Given the description of an element on the screen output the (x, y) to click on. 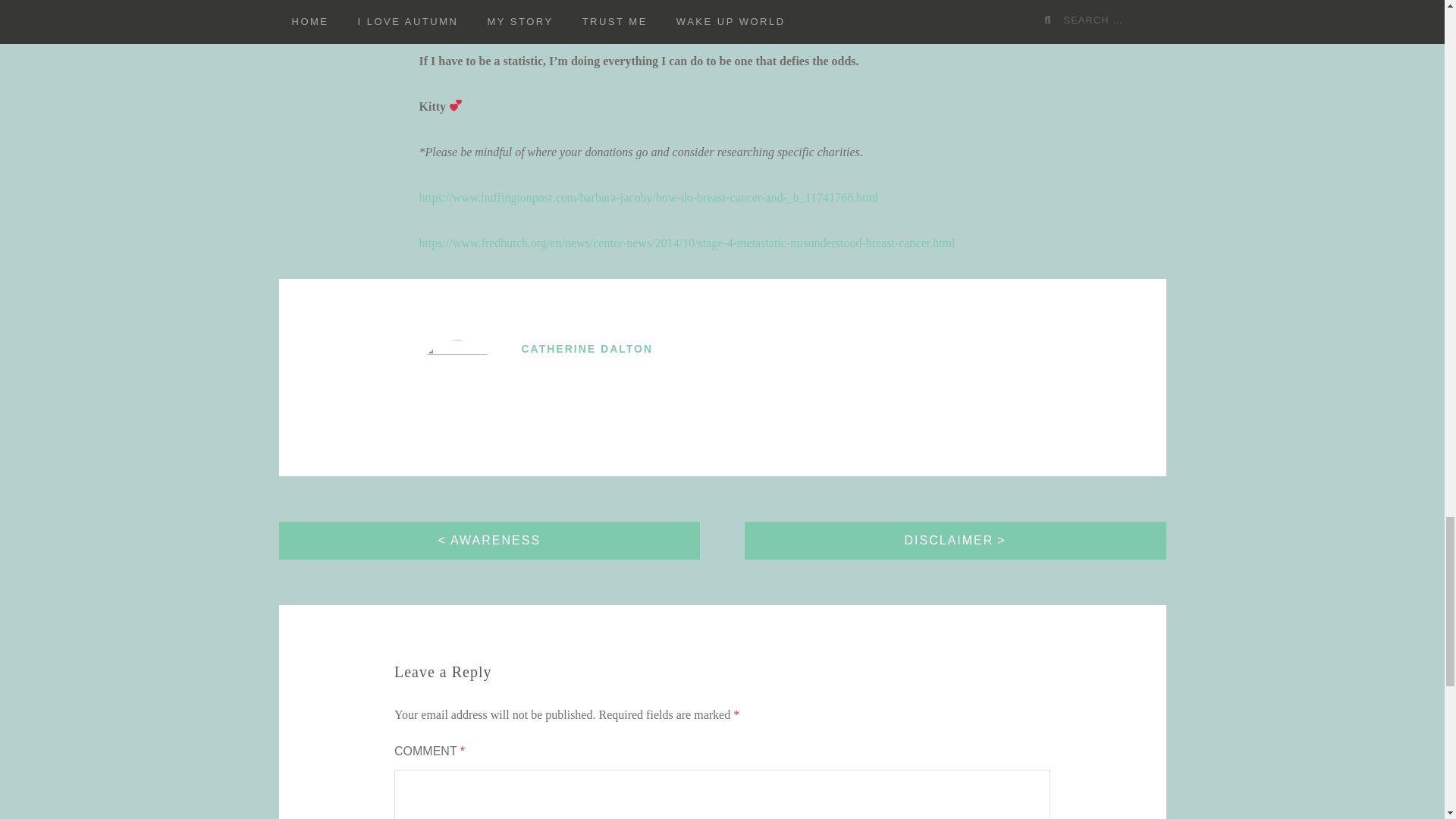
Catherine Dalton (587, 348)
AWARENESS (489, 540)
CATHERINE DALTON (587, 348)
DISCLAIMER (955, 540)
